Given the description of an element on the screen output the (x, y) to click on. 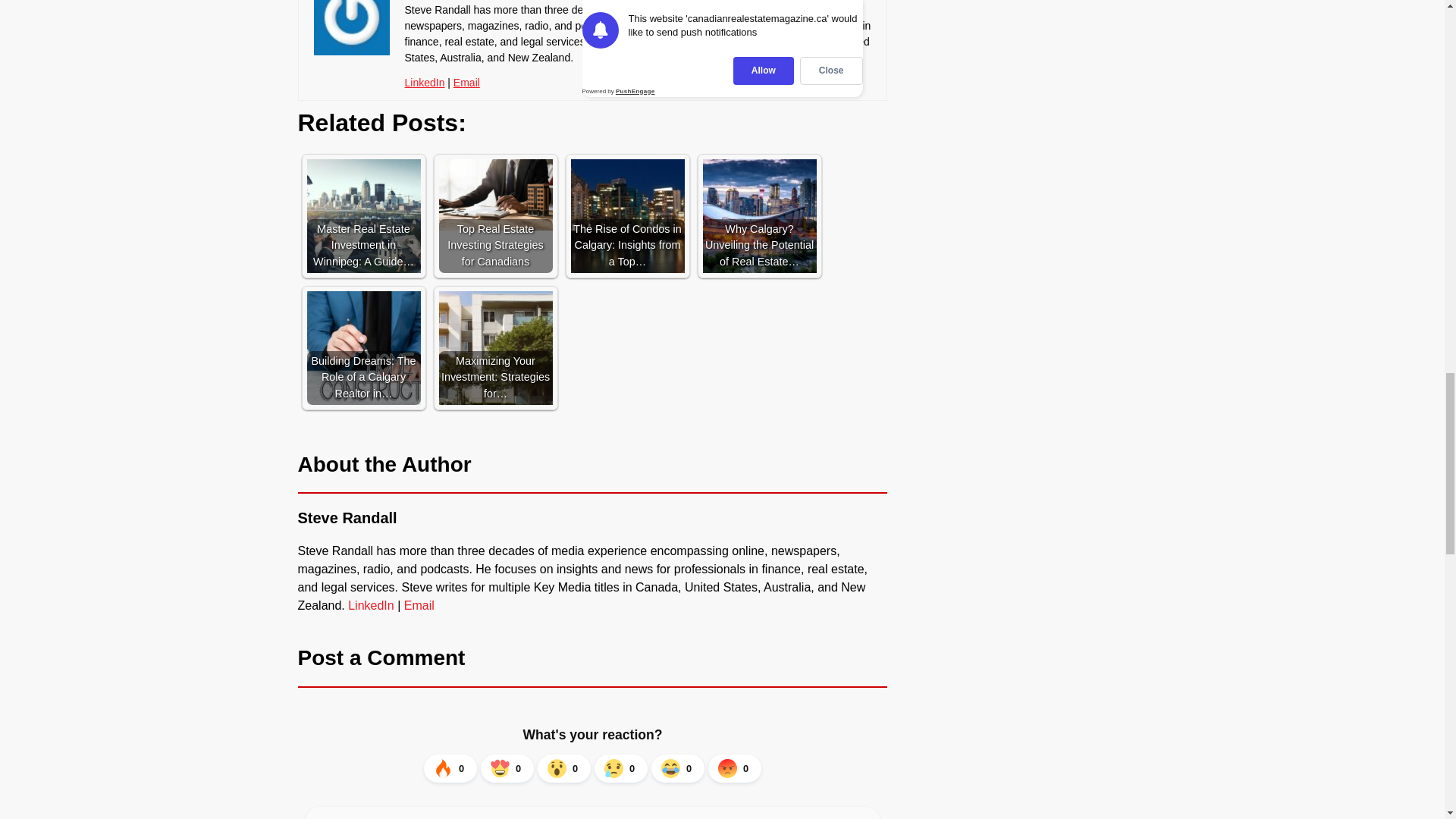
Email (466, 82)
LinkedIn (424, 82)
Top Real Estate Investing Strategies for Canadians (494, 194)
